Given the description of an element on the screen output the (x, y) to click on. 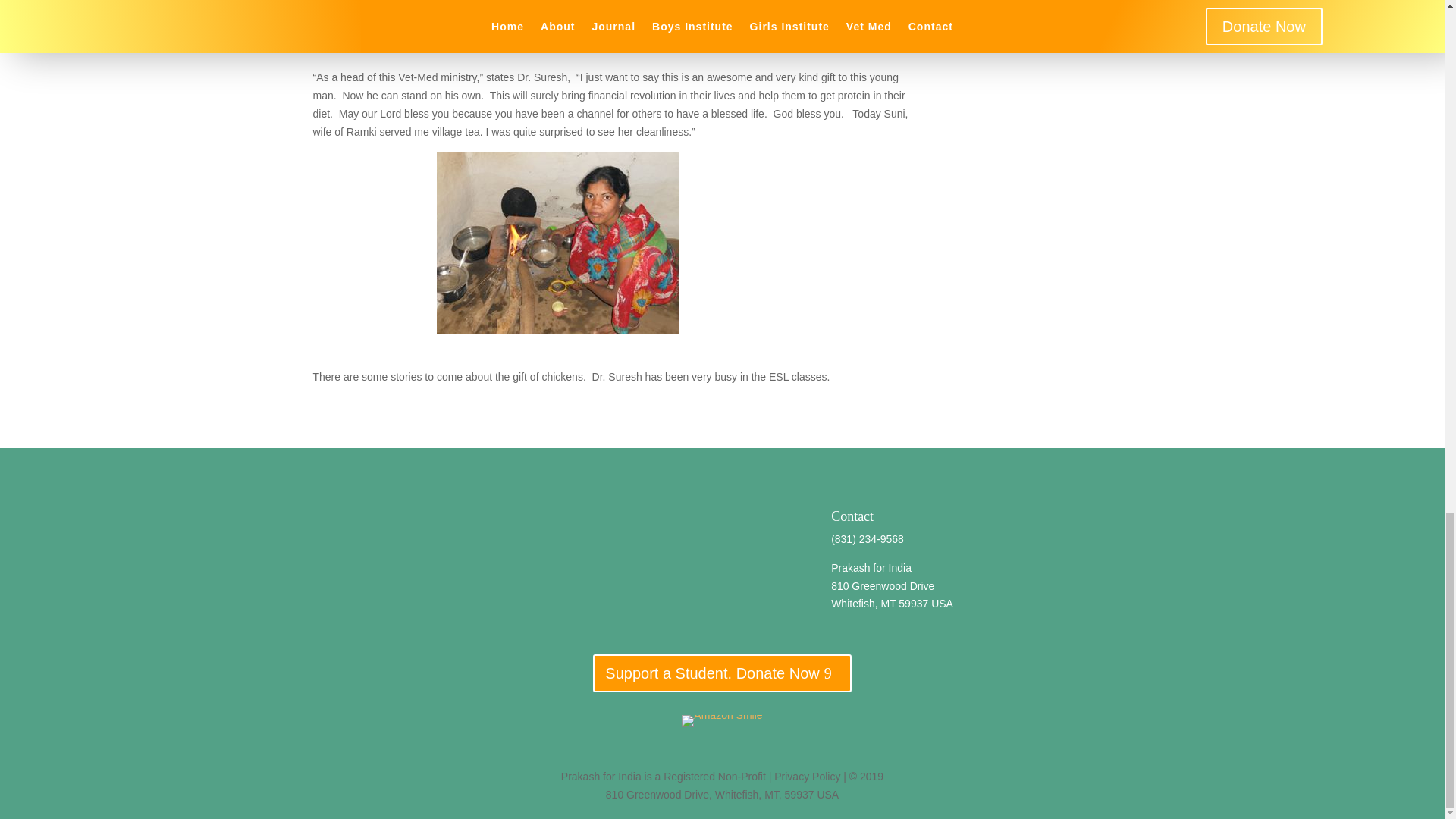
Support a Student. Donate Now (721, 673)
Amazon Smile (721, 720)
